Given the description of an element on the screen output the (x, y) to click on. 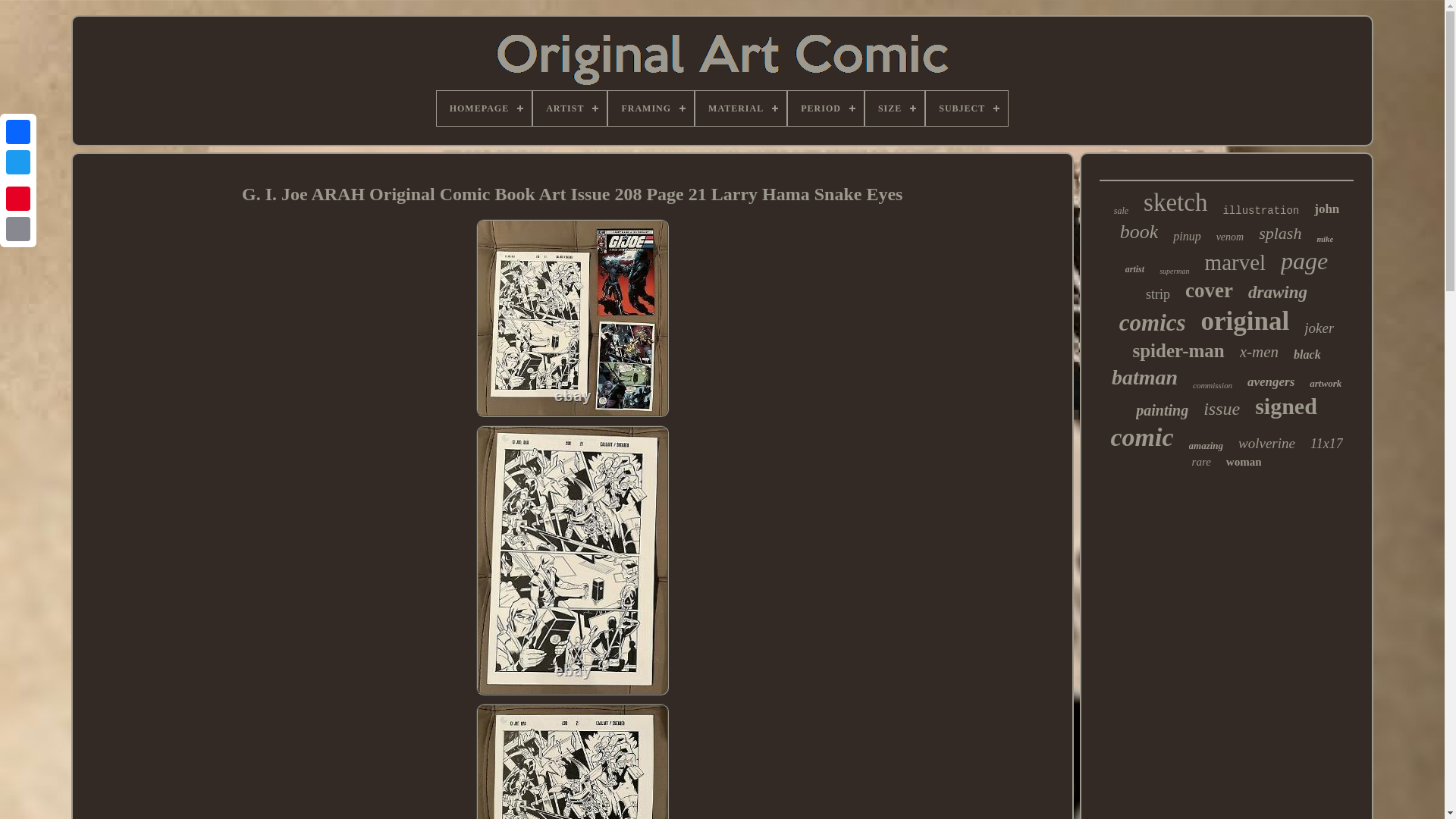
FRAMING (651, 108)
Twitter (17, 162)
ARTIST (569, 108)
HOMEPAGE (483, 108)
MATERIAL (740, 108)
